Given the description of an element on the screen output the (x, y) to click on. 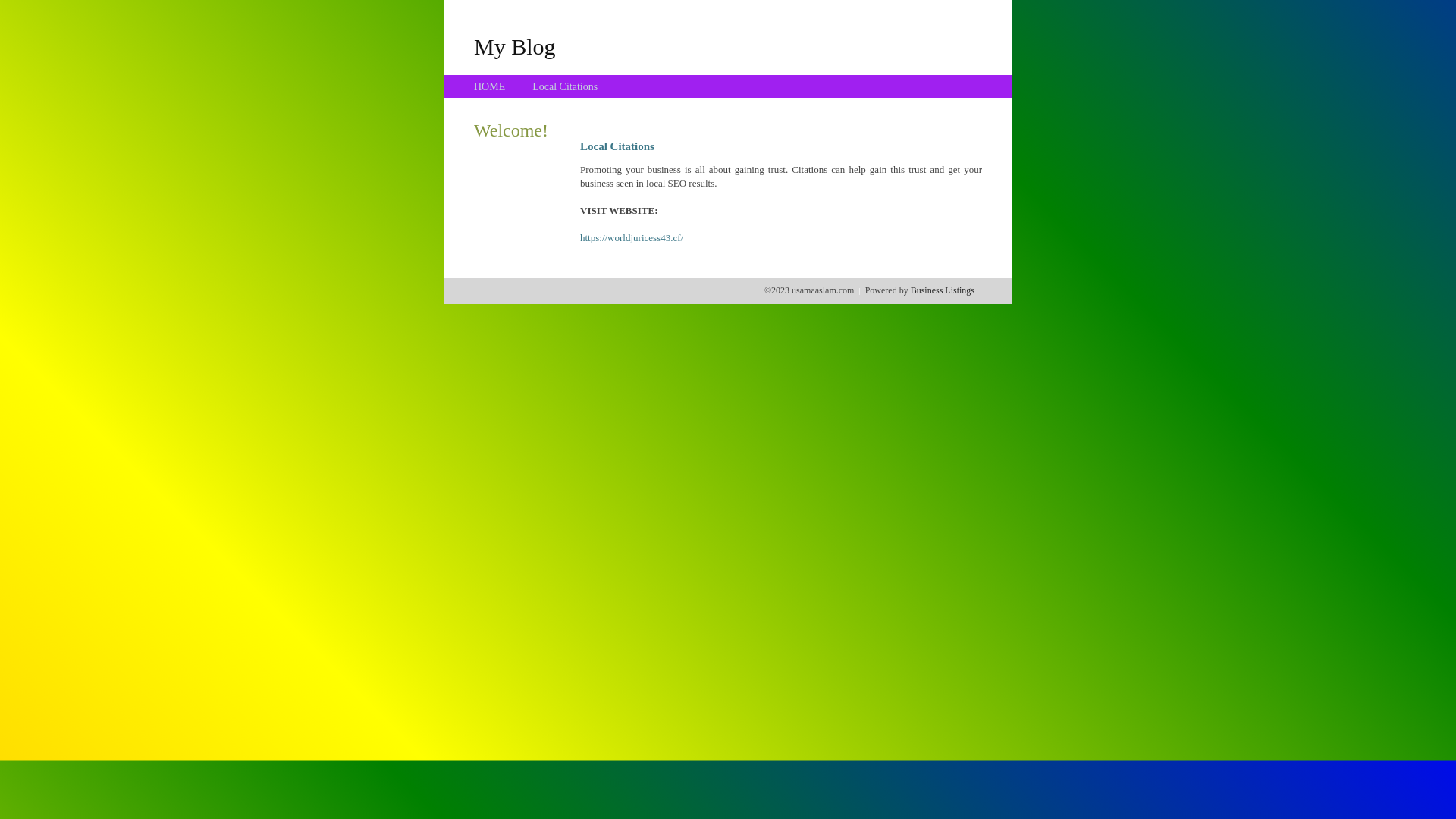
Local Citations Element type: text (564, 86)
HOME Element type: text (489, 86)
My Blog Element type: text (514, 46)
Business Listings Element type: text (942, 290)
https://worldjuricess43.cf/ Element type: text (631, 237)
